Given the description of an element on the screen output the (x, y) to click on. 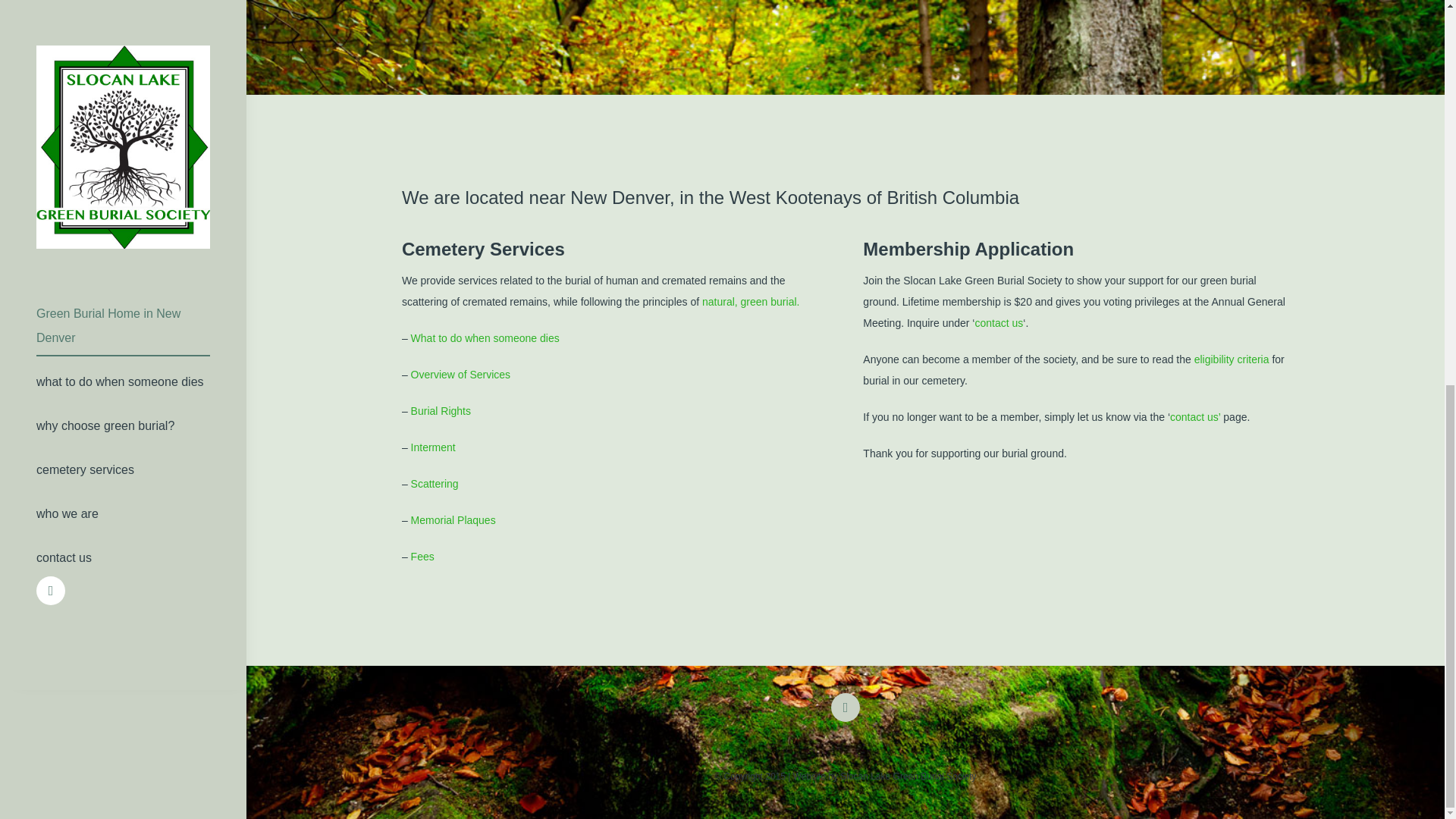
Scattering (434, 483)
Overview of Services (460, 374)
What to do when someone dies (484, 337)
Interment (432, 447)
Fees (420, 556)
contact us (998, 322)
Memorial Plaques (451, 520)
natural, green burial. (750, 301)
Burial Rights (440, 410)
eligibility criteria (1231, 358)
